Given the description of an element on the screen output the (x, y) to click on. 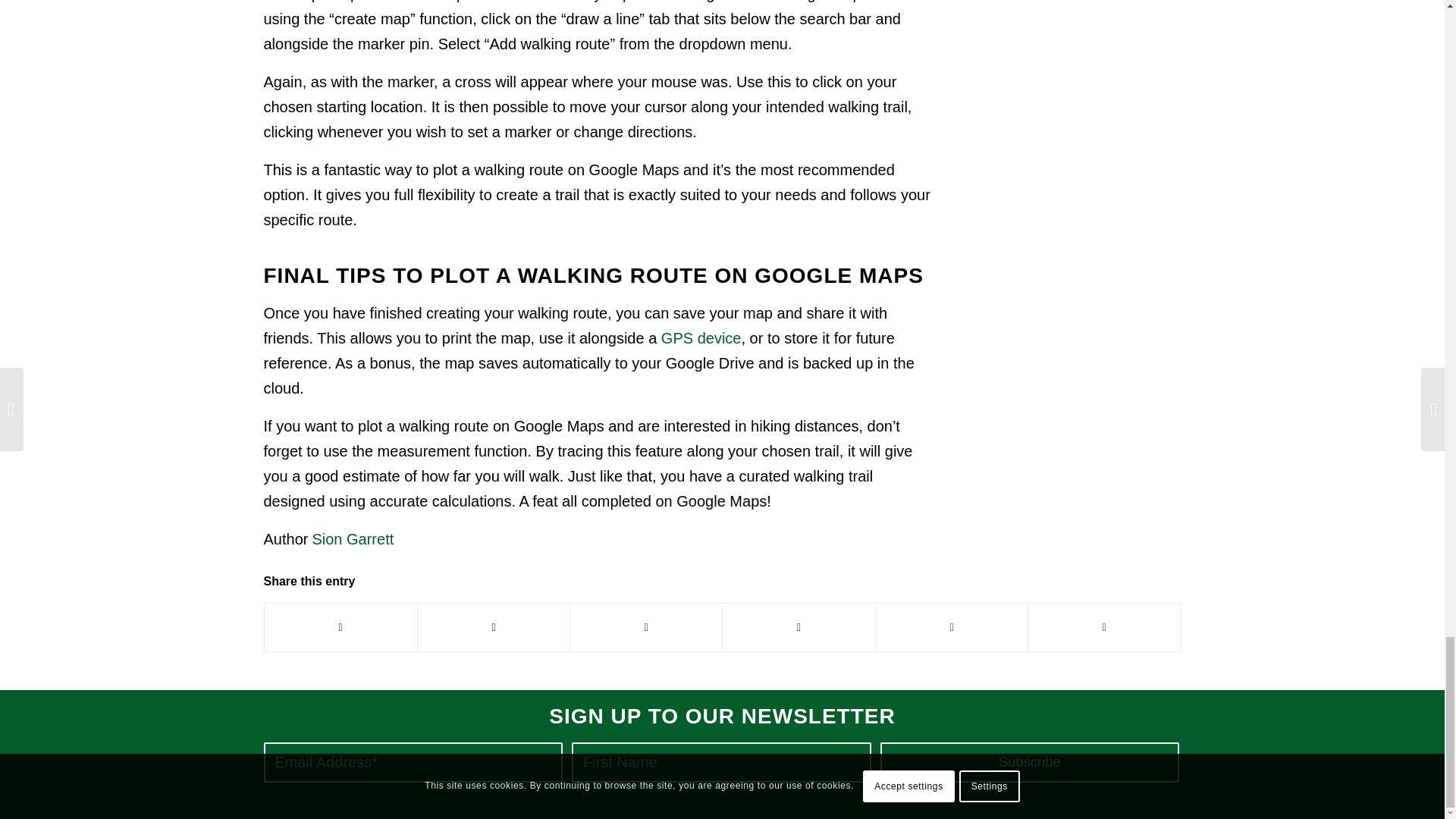
Subscribe (1029, 762)
Sion Garrett (352, 538)
Subscribe (1029, 762)
GPS device (701, 338)
